Given the description of an element on the screen output the (x, y) to click on. 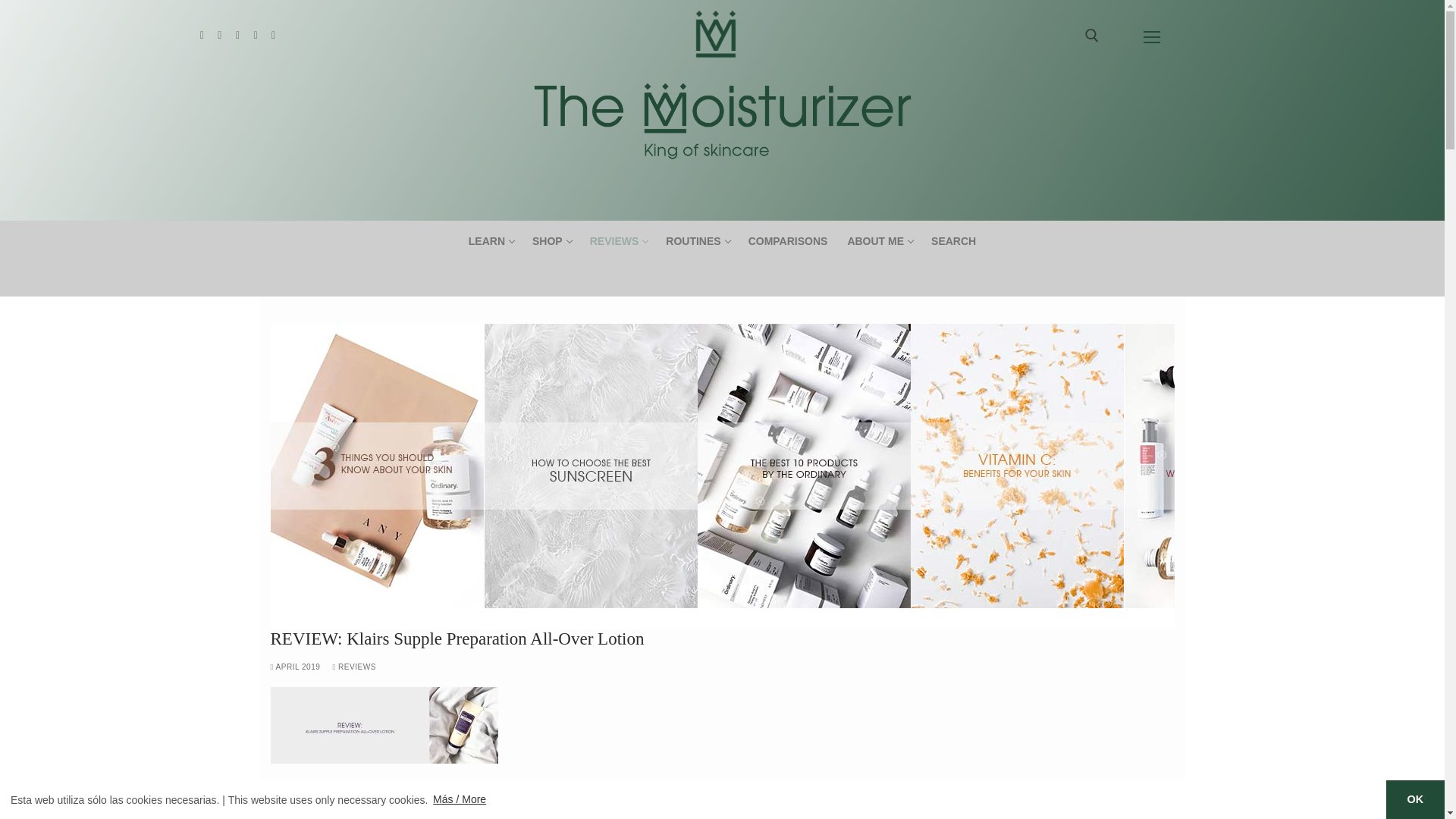
TikTok (550, 240)
English (237, 35)
Instagram (255, 35)
Pinterest (201, 35)
